Given the description of an element on the screen output the (x, y) to click on. 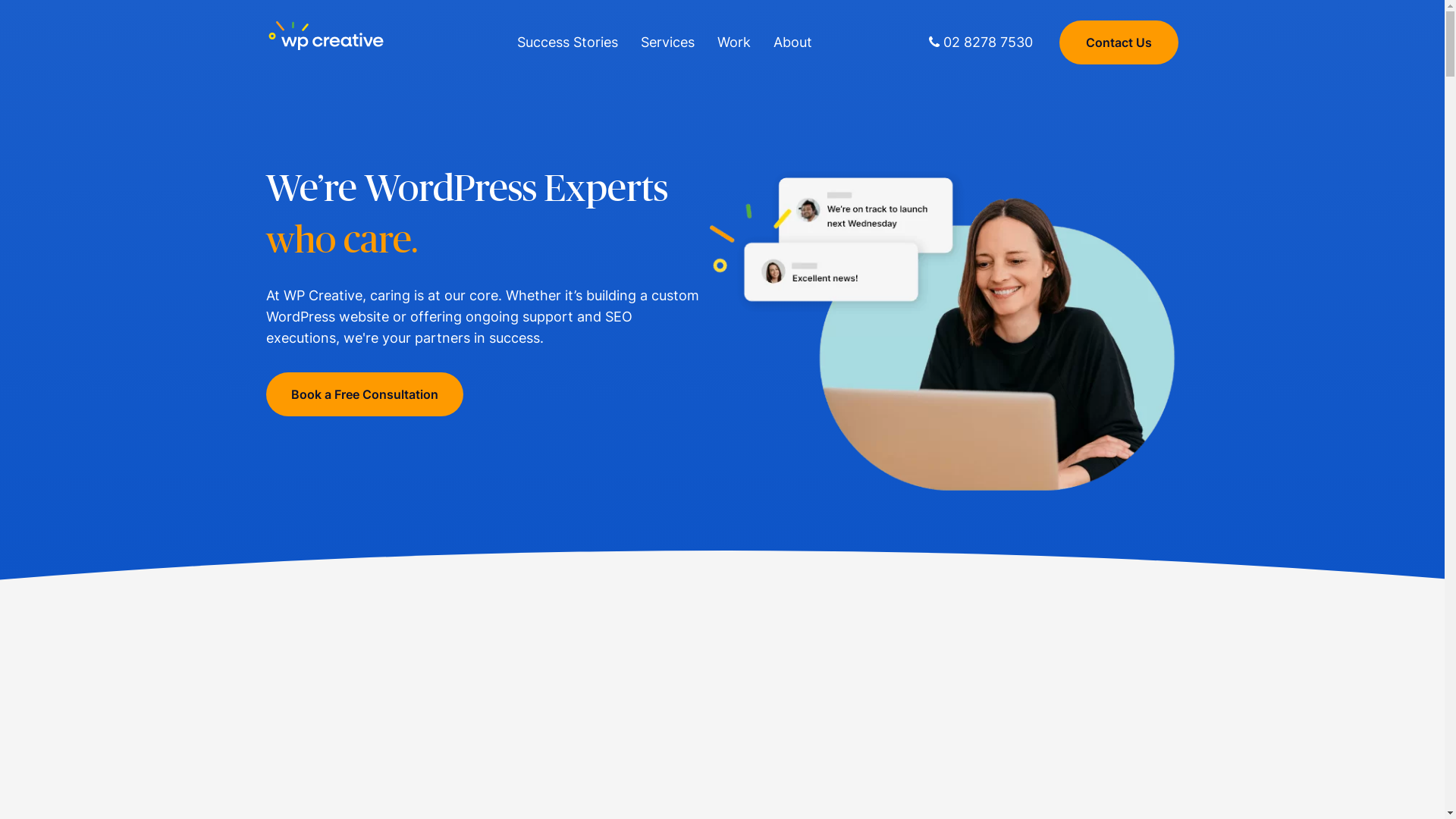
02 8278 7530 Element type: text (980, 41)
About Element type: text (792, 42)
Services Element type: text (666, 42)
Book a Free Consultation Element type: text (364, 394)
Work Element type: text (733, 42)
Contact Us Element type: text (1118, 41)
Success Stories Element type: text (567, 42)
